Given the description of an element on the screen output the (x, y) to click on. 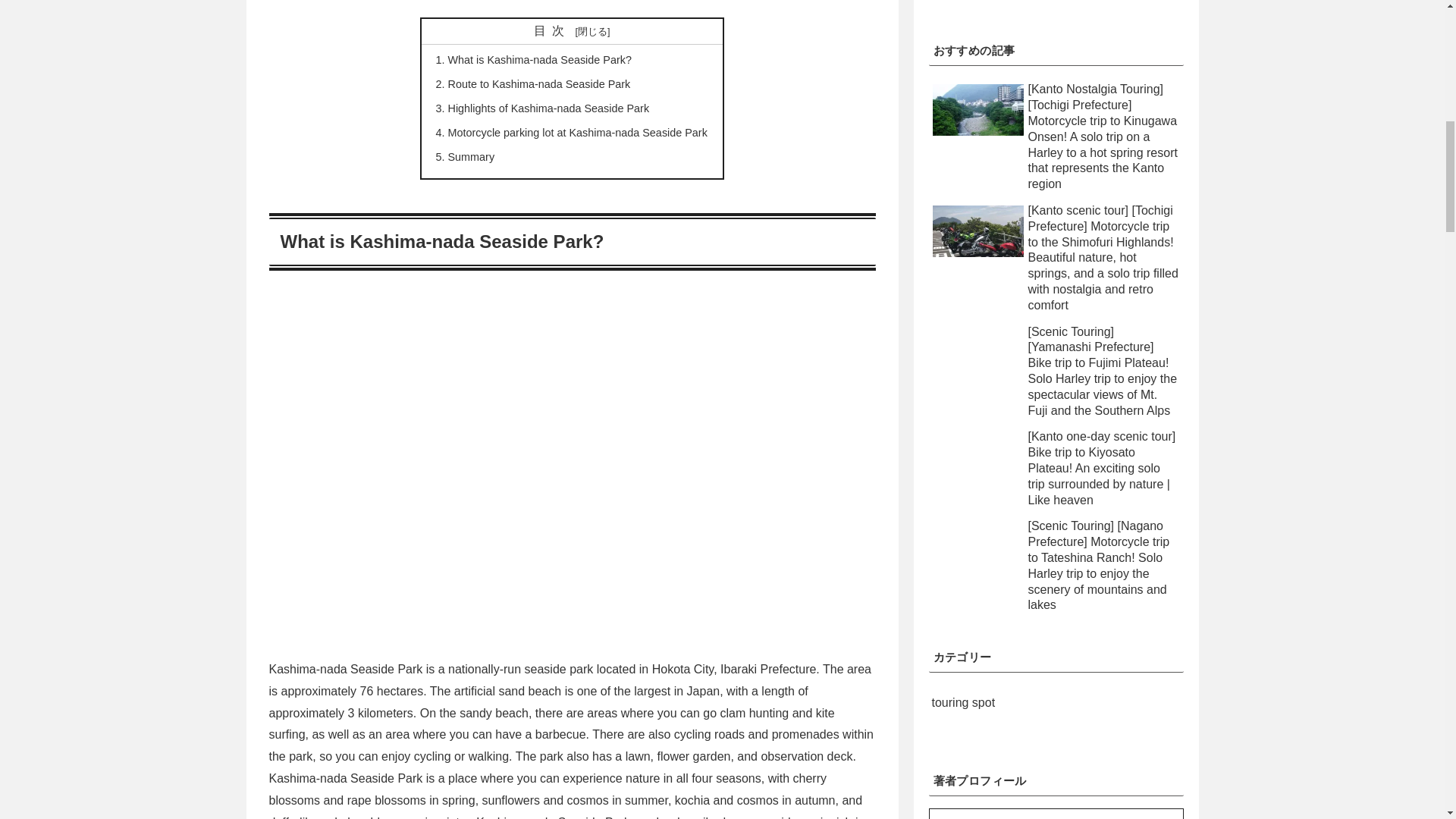
Summary (471, 156)
What is Kashima-nada Seaside Park? (539, 60)
Route to Kashima-nada Seaside Park (539, 83)
Motorcycle parking lot at Kashima-nada Seaside Park (577, 132)
Highlights of Kashima-nada Seaside Park (548, 108)
